Given the description of an element on the screen output the (x, y) to click on. 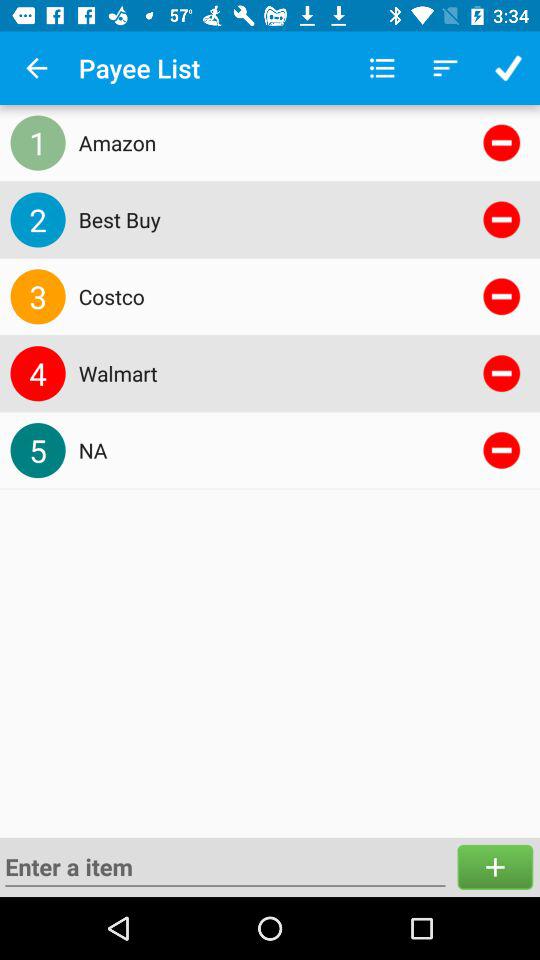
item text box (225, 867)
